Given the description of an element on the screen output the (x, y) to click on. 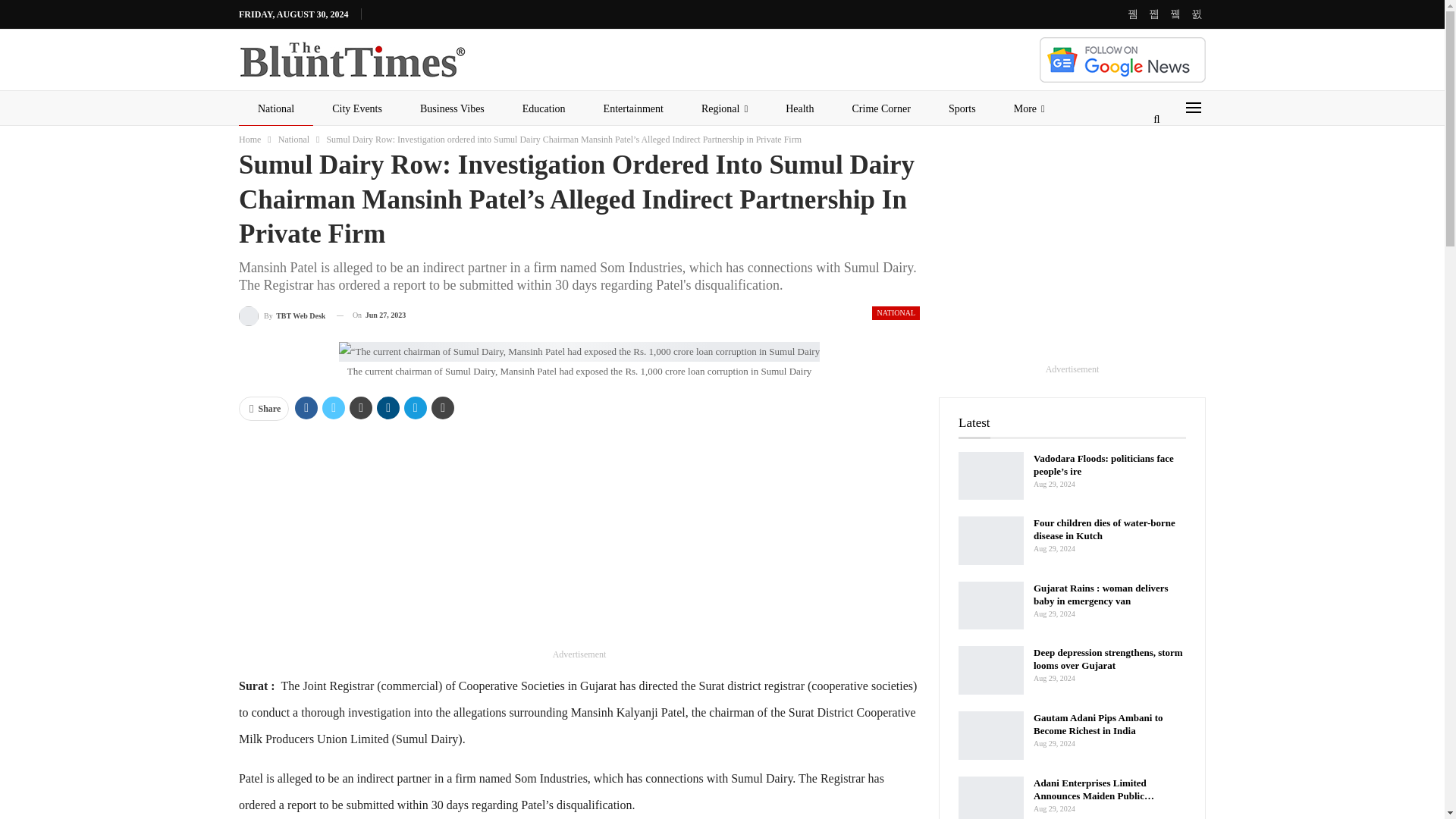
Entertainment (633, 108)
Four children dies of water-borne disease in Kutch (990, 540)
National (275, 108)
City Events (357, 108)
Regional (724, 108)
Business Vibes (452, 108)
Browse Author Articles (281, 315)
Education (544, 108)
